Given the description of an element on the screen output the (x, y) to click on. 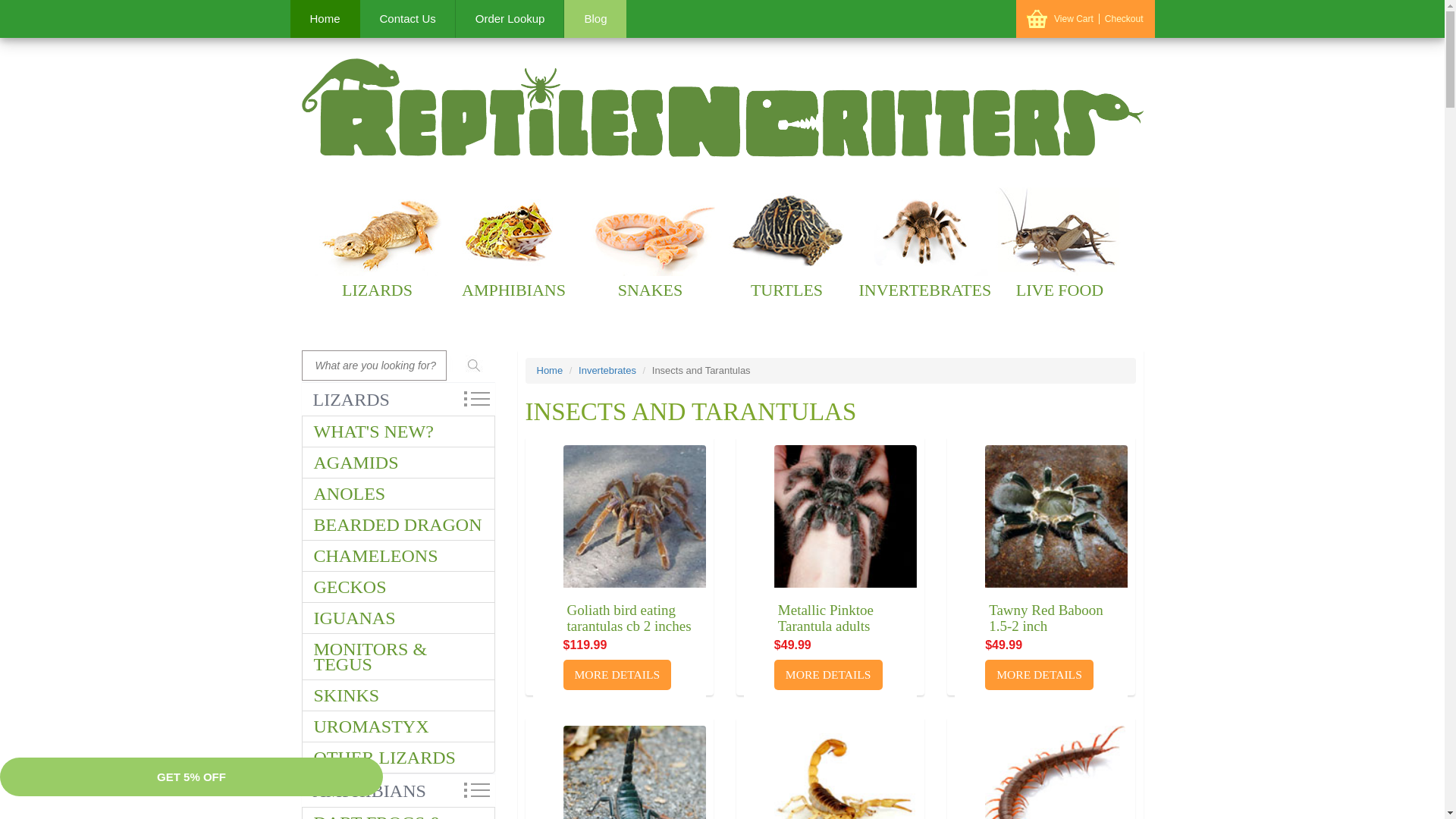
TURTLES (786, 244)
INVERTEBRATES (923, 244)
OTHER LIZARDS (398, 757)
IGUANAS (398, 617)
GECKOS (398, 586)
Home (324, 18)
AGAMIDS (398, 462)
Checkout (1123, 18)
BEARDED DRAGON (398, 524)
UROMASTYX (398, 726)
View Cart (1076, 18)
LIVE FOOD (1059, 244)
Order Lookup (509, 18)
cart (1036, 18)
ANOLES (398, 493)
